Given the description of an element on the screen output the (x, y) to click on. 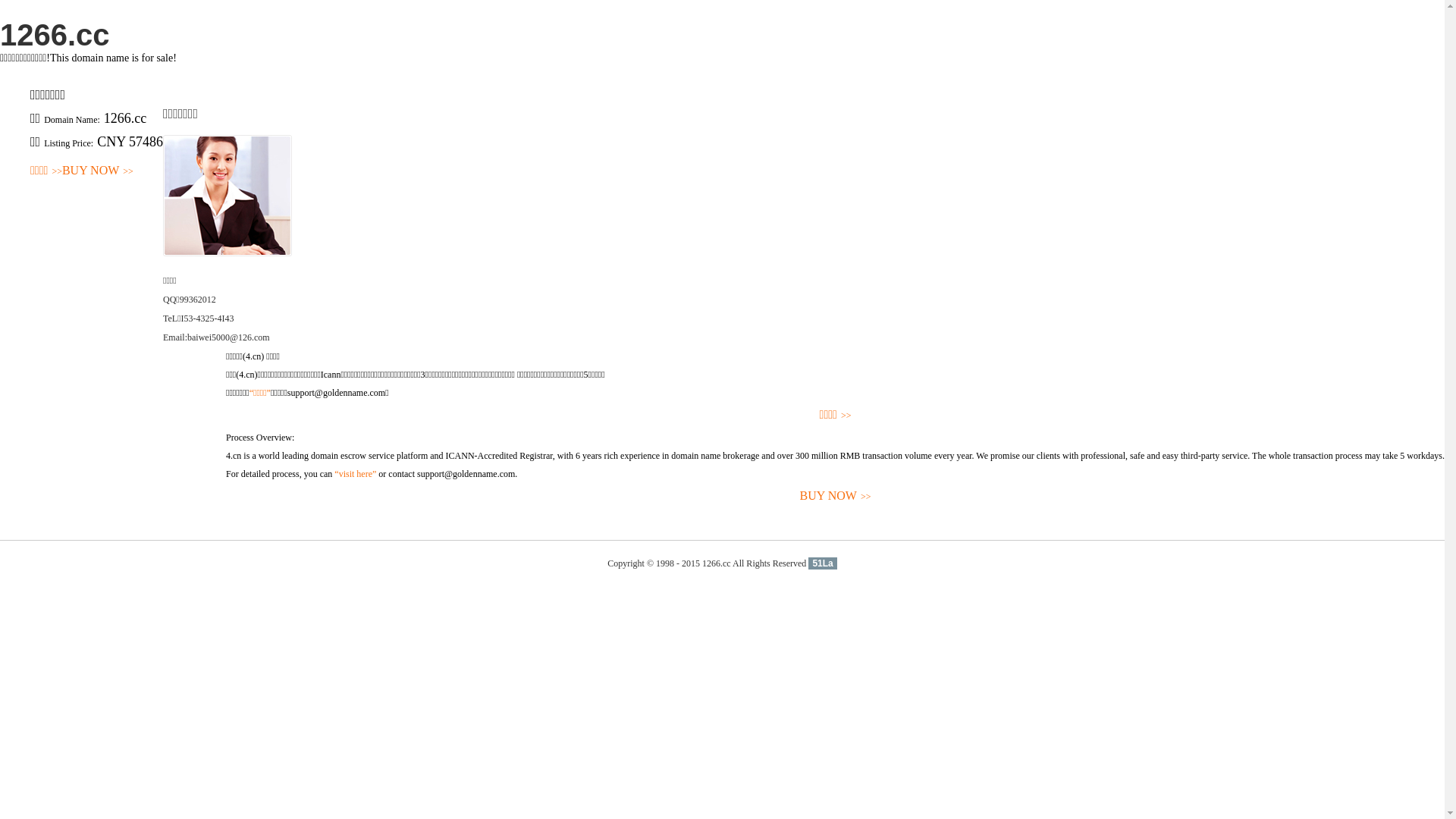
BUY NOW>> Element type: text (97, 170)
BUY NOW>> Element type: text (834, 496)
51La Element type: text (822, 563)
